Given the description of an element on the screen output the (x, y) to click on. 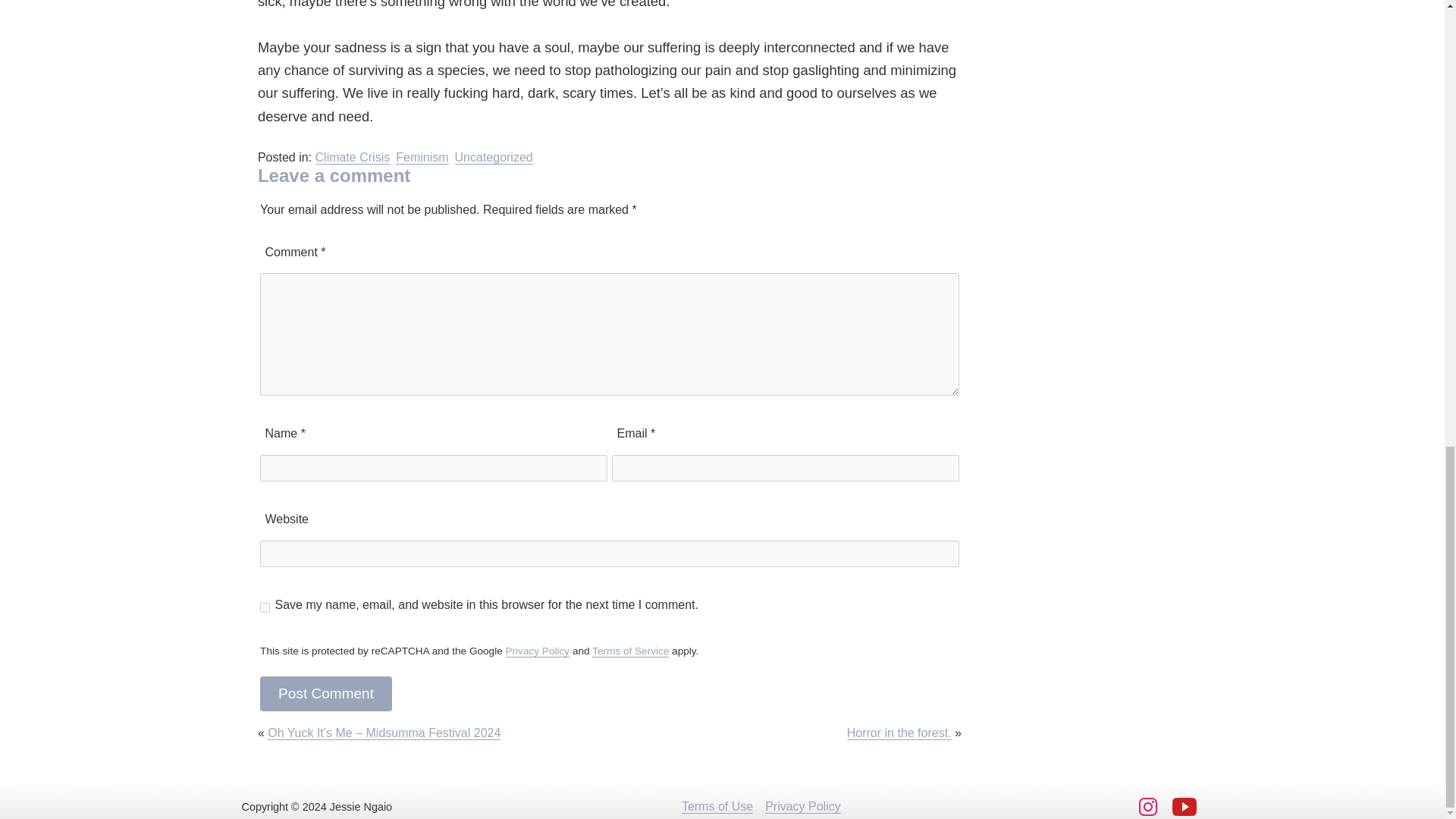
Privacy Policy (537, 651)
yes (264, 607)
Climate Crisis (352, 157)
Post Comment (325, 693)
Terms of Service (630, 651)
Post Comment (325, 693)
Uncategorized (493, 157)
Feminism (422, 157)
Horror in the forest. (899, 733)
